Given the description of an element on the screen output the (x, y) to click on. 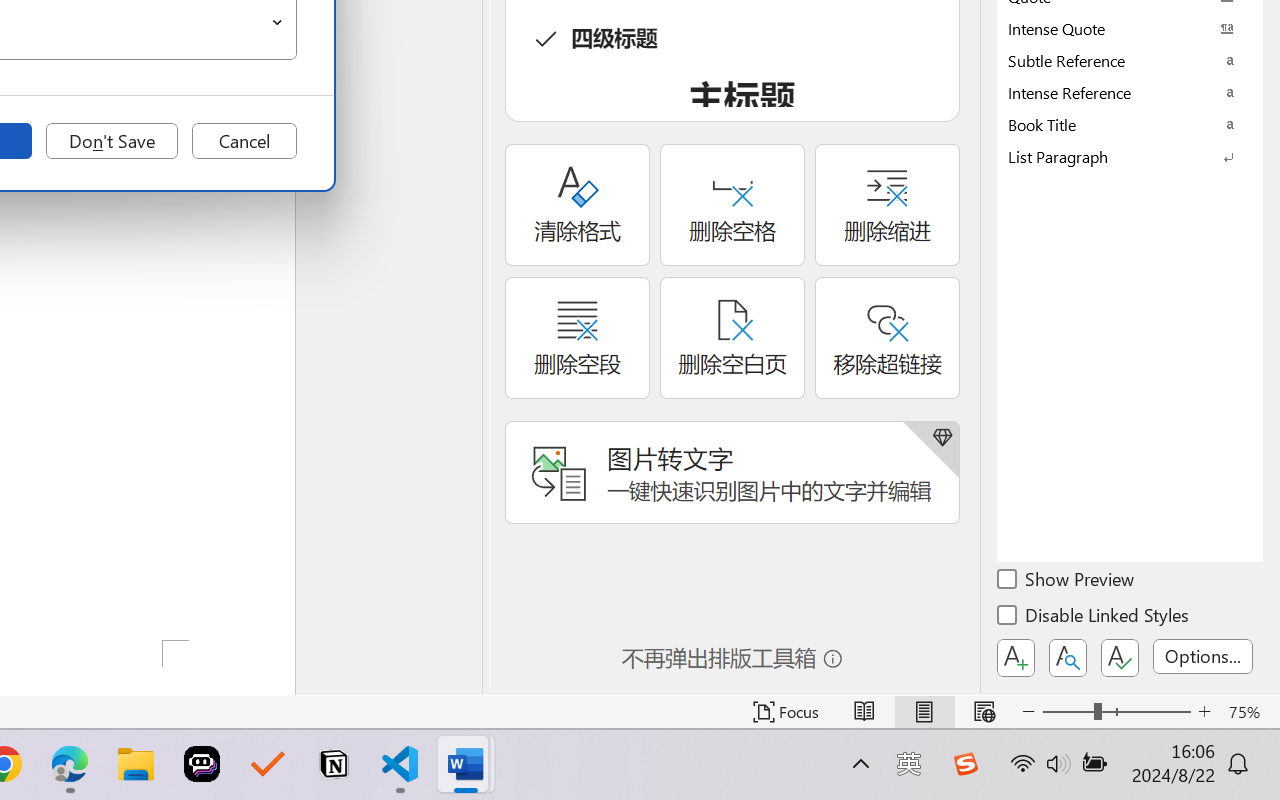
Subtle Reference (1130, 60)
Zoom In (1204, 712)
Don't Save (111, 141)
Intense Quote (1130, 28)
Poe (201, 764)
Notion (333, 764)
Class: NetUIButton (1119, 657)
List Paragraph (1130, 156)
